Given the description of an element on the screen output the (x, y) to click on. 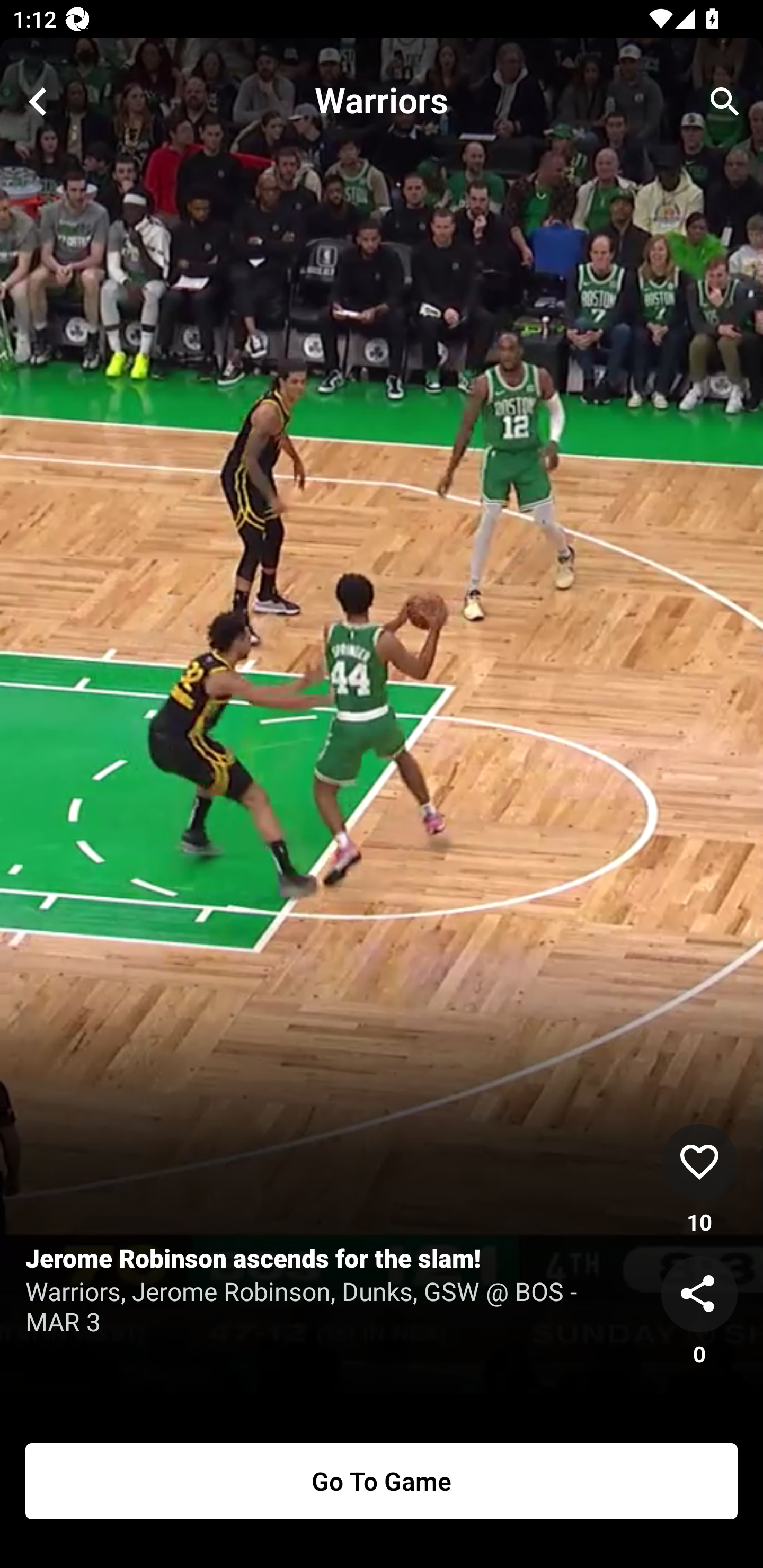
close (38, 101)
search (724, 101)
like 10 10 Likes (699, 1180)
share 0 0 Shares (699, 1311)
Go To Game (381, 1480)
